Given the description of an element on the screen output the (x, y) to click on. 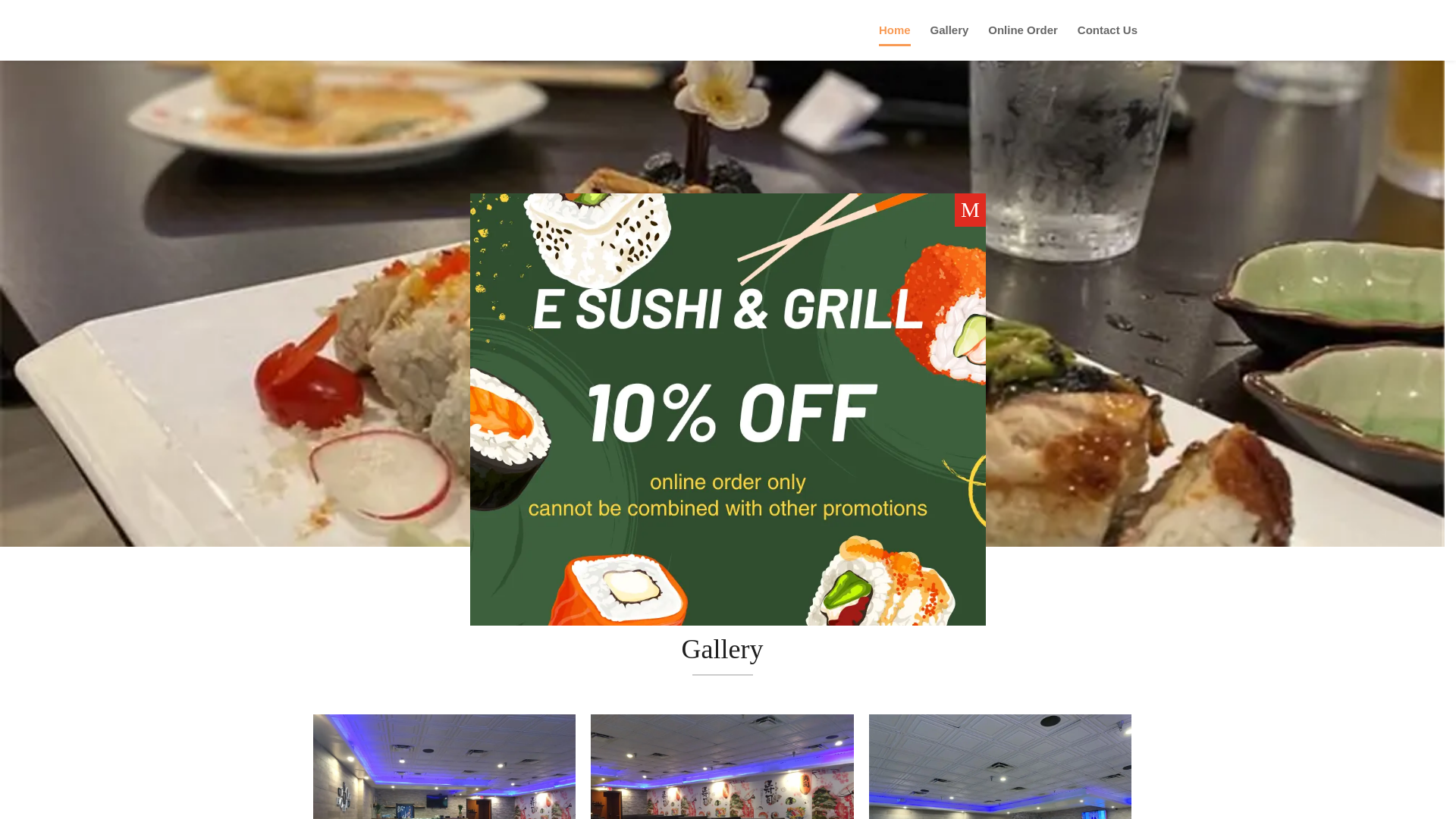
104 (444, 766)
Contact Us (1107, 42)
105 (722, 766)
Home (895, 42)
Online Order (1023, 42)
106 (1000, 766)
Gallery (949, 42)
ONLINE ORDER (721, 366)
M (970, 209)
